Given the description of an element on the screen output the (x, y) to click on. 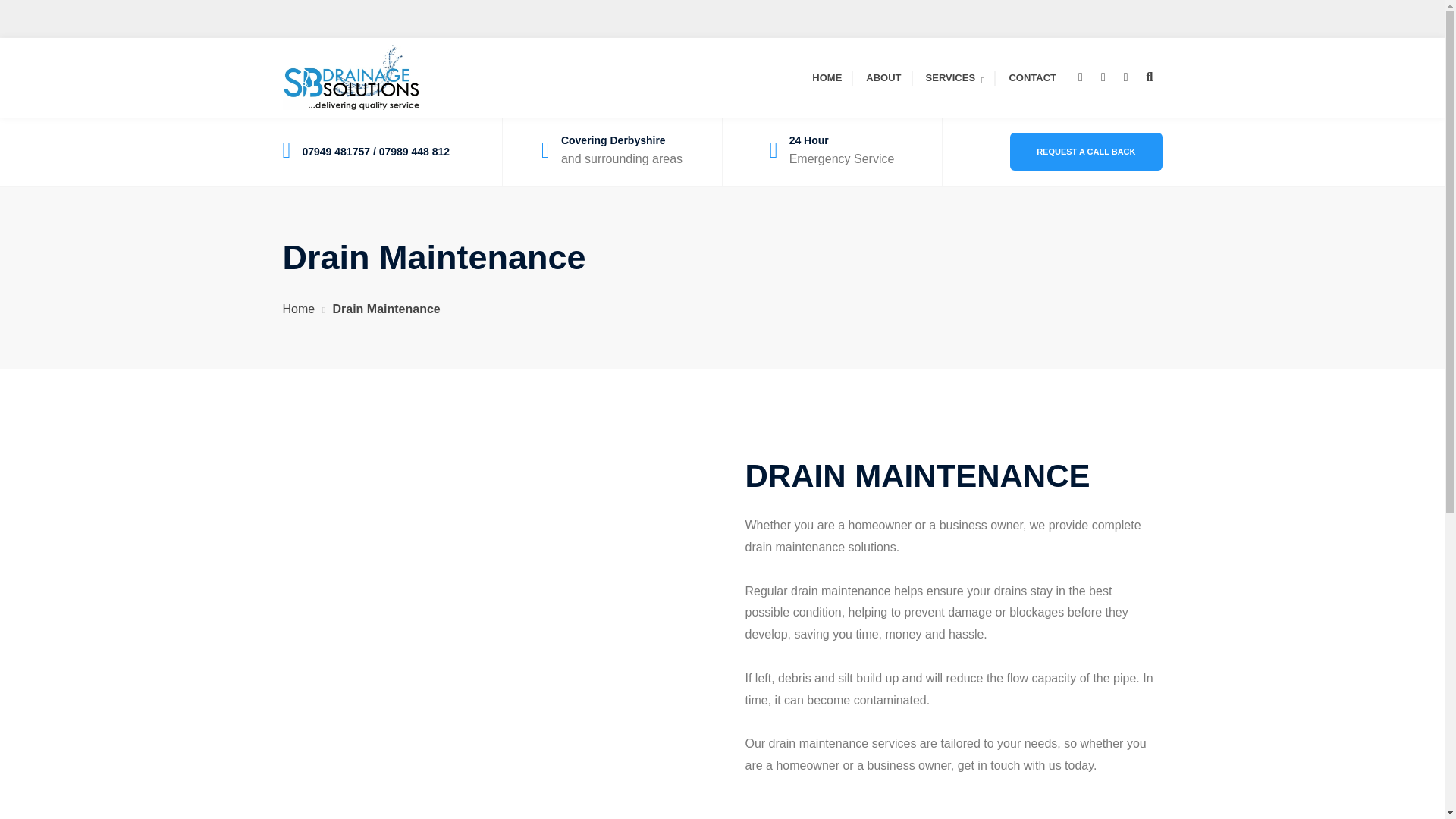
SERVICES (955, 77)
Twitter (1080, 76)
07949 481757 (335, 151)
Linkedin (1126, 76)
07989 448 812 (413, 151)
CONTACT (1033, 77)
REQUEST A CALL BACK (1085, 151)
Facebook (1103, 76)
HOME (826, 77)
ABOUT (883, 77)
